Given the description of an element on the screen output the (x, y) to click on. 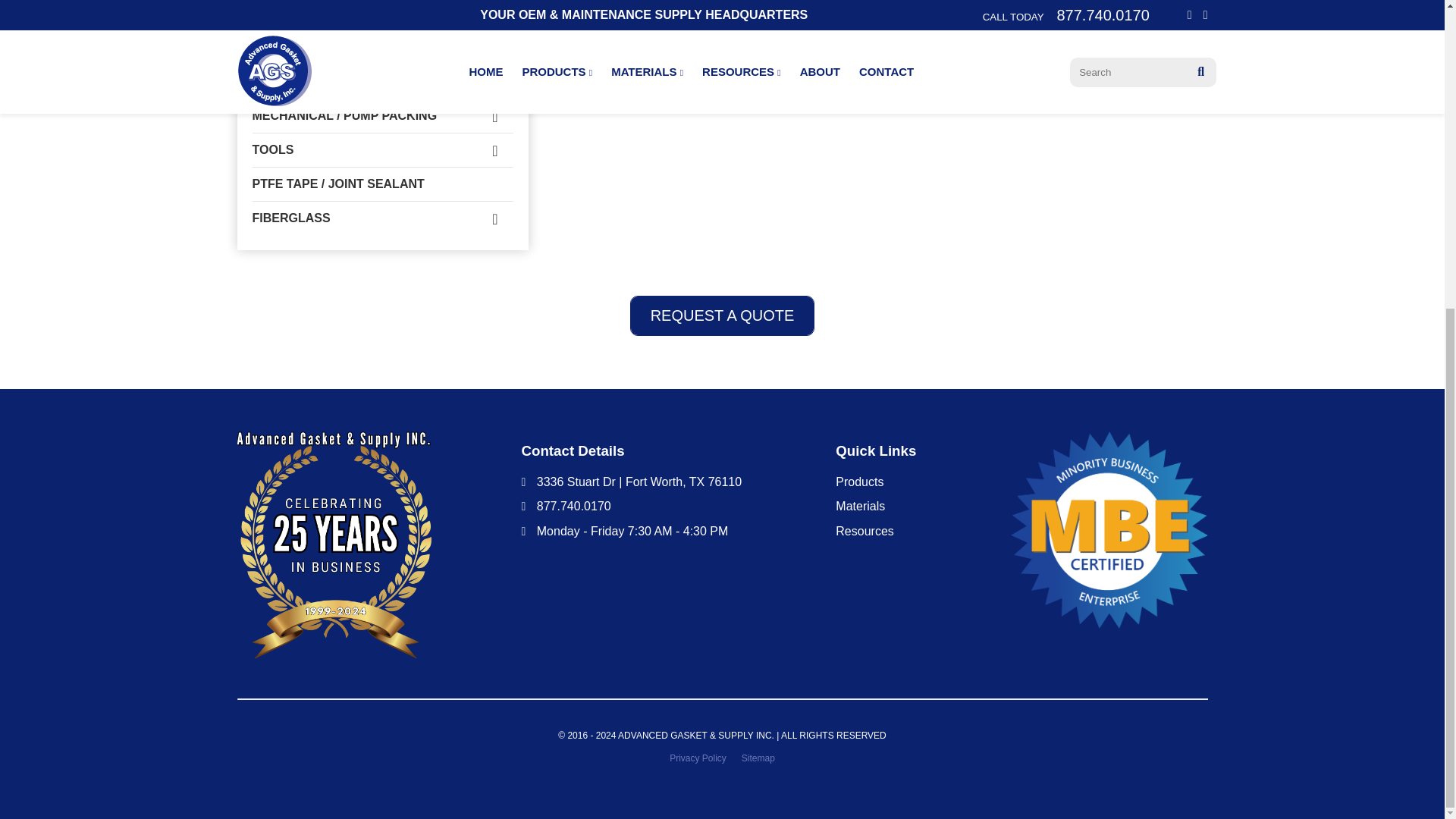
METAL GASKETS (381, 15)
TOOLS (381, 150)
O-RINGS (381, 81)
